Given the description of an element on the screen output the (x, y) to click on. 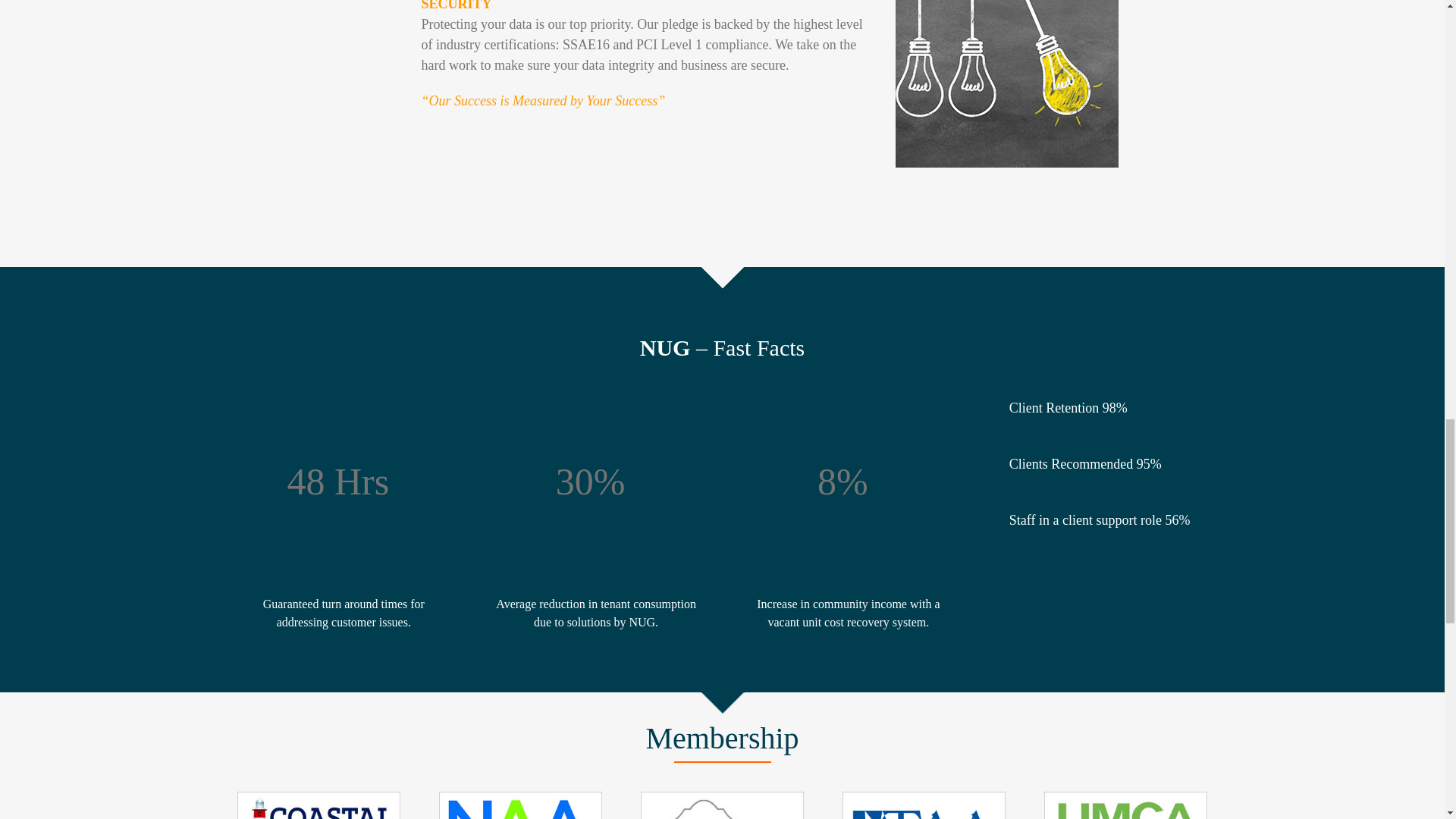
naa-logo-opt (520, 805)
umca-logo-opt (1125, 805)
saaa-logo-opt (721, 805)
cgaa-logo-opt (316, 805)
taa-logo-opt (924, 805)
